Given the description of an element on the screen output the (x, y) to click on. 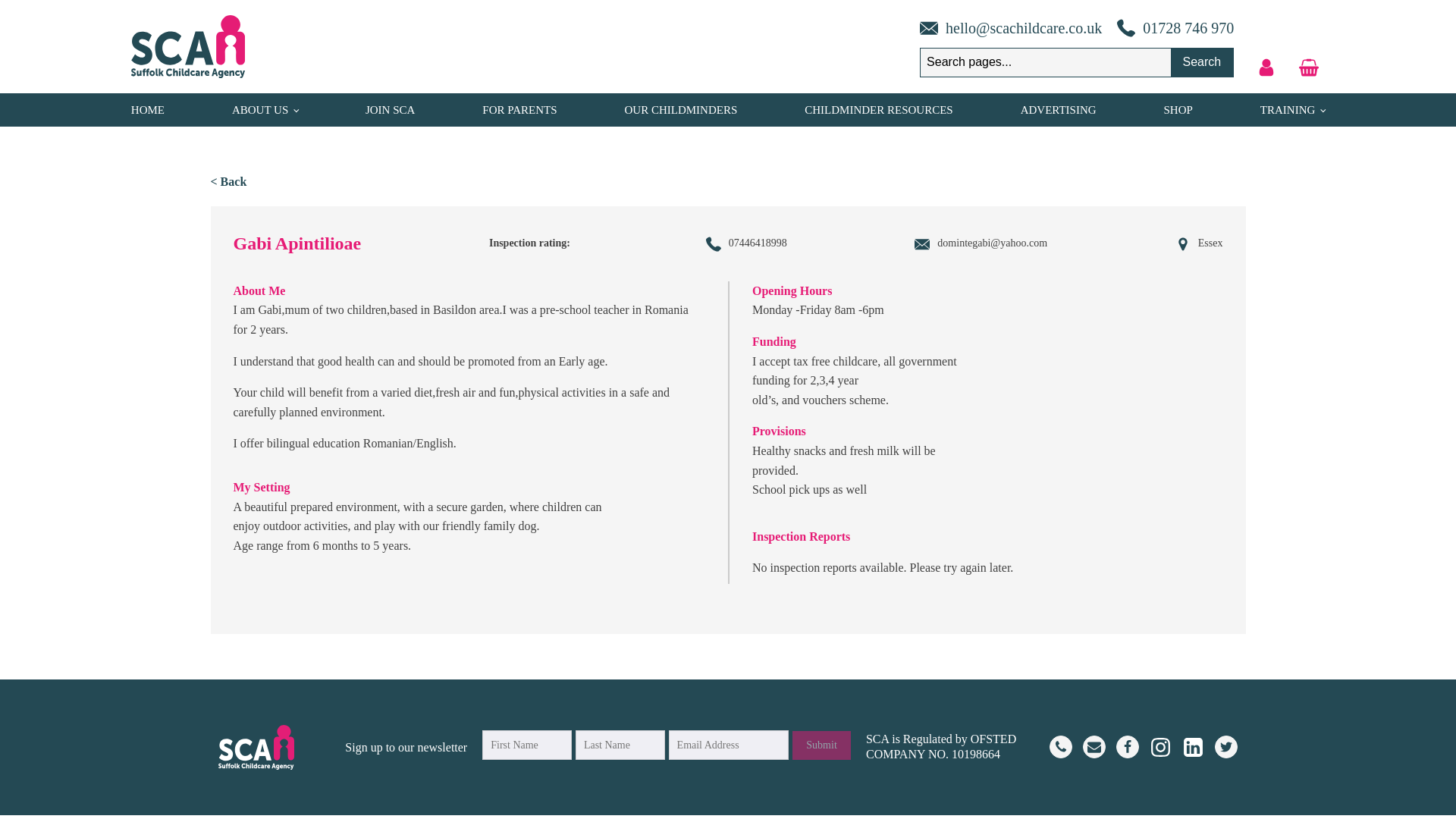
TRAINING (1292, 109)
JOIN SCA (389, 109)
FOR PARENTS (518, 109)
ADVERTISING (1058, 109)
OUR CHILDMINDERS (681, 109)
HOME (147, 109)
01728 746 970 (1167, 27)
Search (1201, 62)
Search (1201, 62)
SHOP (1177, 109)
